Given the description of an element on the screen output the (x, y) to click on. 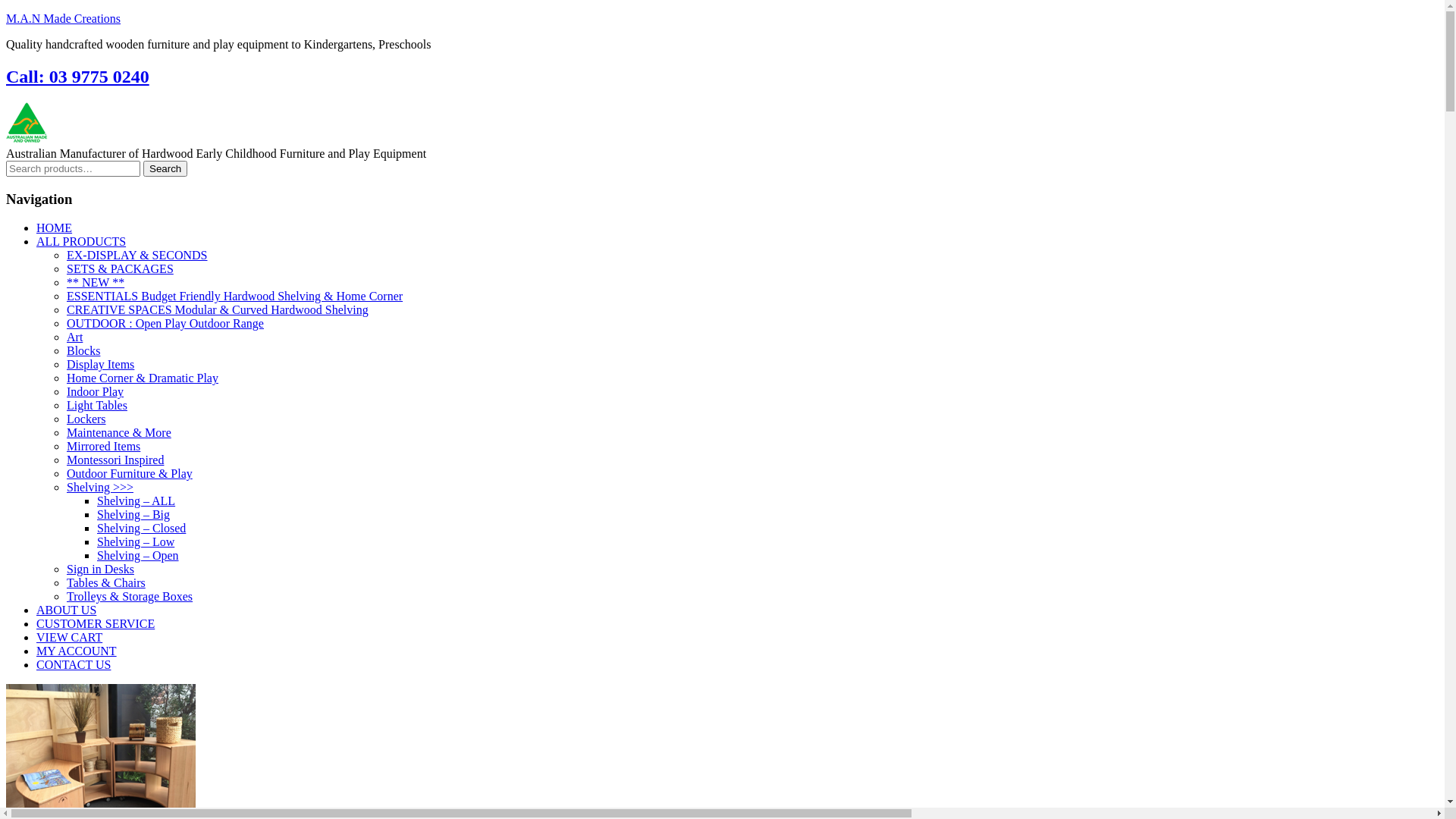
Sign in Desks Element type: text (100, 568)
Art Element type: text (74, 336)
Blocks Element type: text (83, 350)
Maintenance & More Element type: text (118, 432)
EX-DISPLAY & SECONDS Element type: text (136, 254)
HOME Element type: text (54, 227)
ABOUT US Element type: text (66, 609)
Lockers Element type: text (86, 418)
Display Items Element type: text (100, 363)
Trolleys & Storage Boxes Element type: text (129, 595)
Tables & Chairs Element type: text (105, 582)
ALL PRODUCTS Element type: text (80, 241)
CREATIVE SPACES Modular & Curved Hardwood Shelving Element type: text (217, 309)
Outdoor Furniture & Play Element type: text (129, 473)
Call: 03 9775 0240 Element type: text (77, 76)
ESSENTIALS Budget Friendly Hardwood Shelving & Home Corner Element type: text (234, 295)
M.A.N Made Creations Element type: text (63, 18)
SETS & PACKAGES Element type: text (119, 268)
CUSTOMER SERVICE Element type: text (95, 623)
Home Corner & Dramatic Play Element type: text (142, 377)
VIEW CART Element type: text (69, 636)
Shelving >>> Element type: text (99, 486)
MY ACCOUNT Element type: text (76, 650)
OUTDOOR : Open Play Outdoor Range Element type: text (164, 322)
Search Element type: text (165, 168)
Montessori Inspired Element type: text (114, 459)
** NEW ** Element type: text (95, 282)
Indoor Play Element type: text (94, 391)
Mirrored Items Element type: text (103, 445)
CONTACT US Element type: text (73, 664)
Light Tables Element type: text (96, 404)
